Given the description of an element on the screen output the (x, y) to click on. 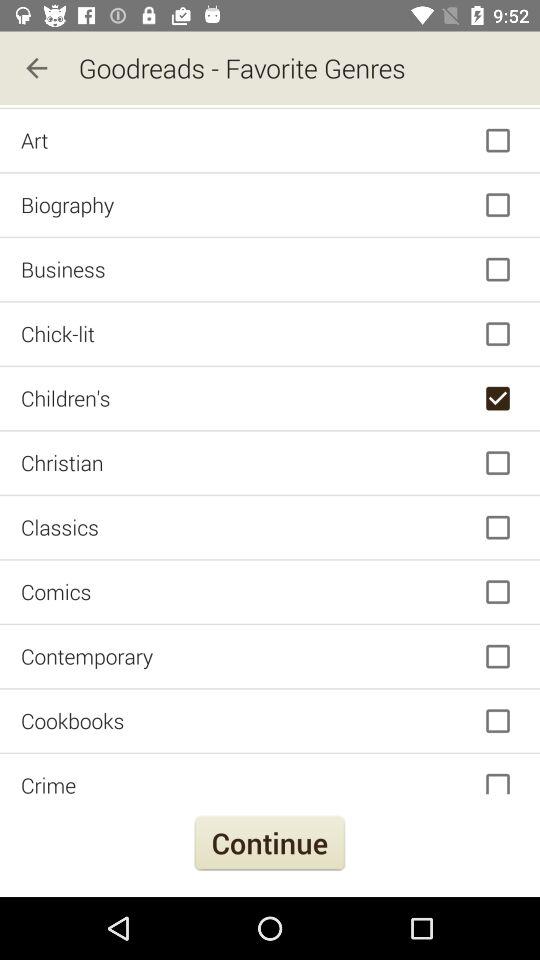
click cookbooks item (270, 720)
